Given the description of an element on the screen output the (x, y) to click on. 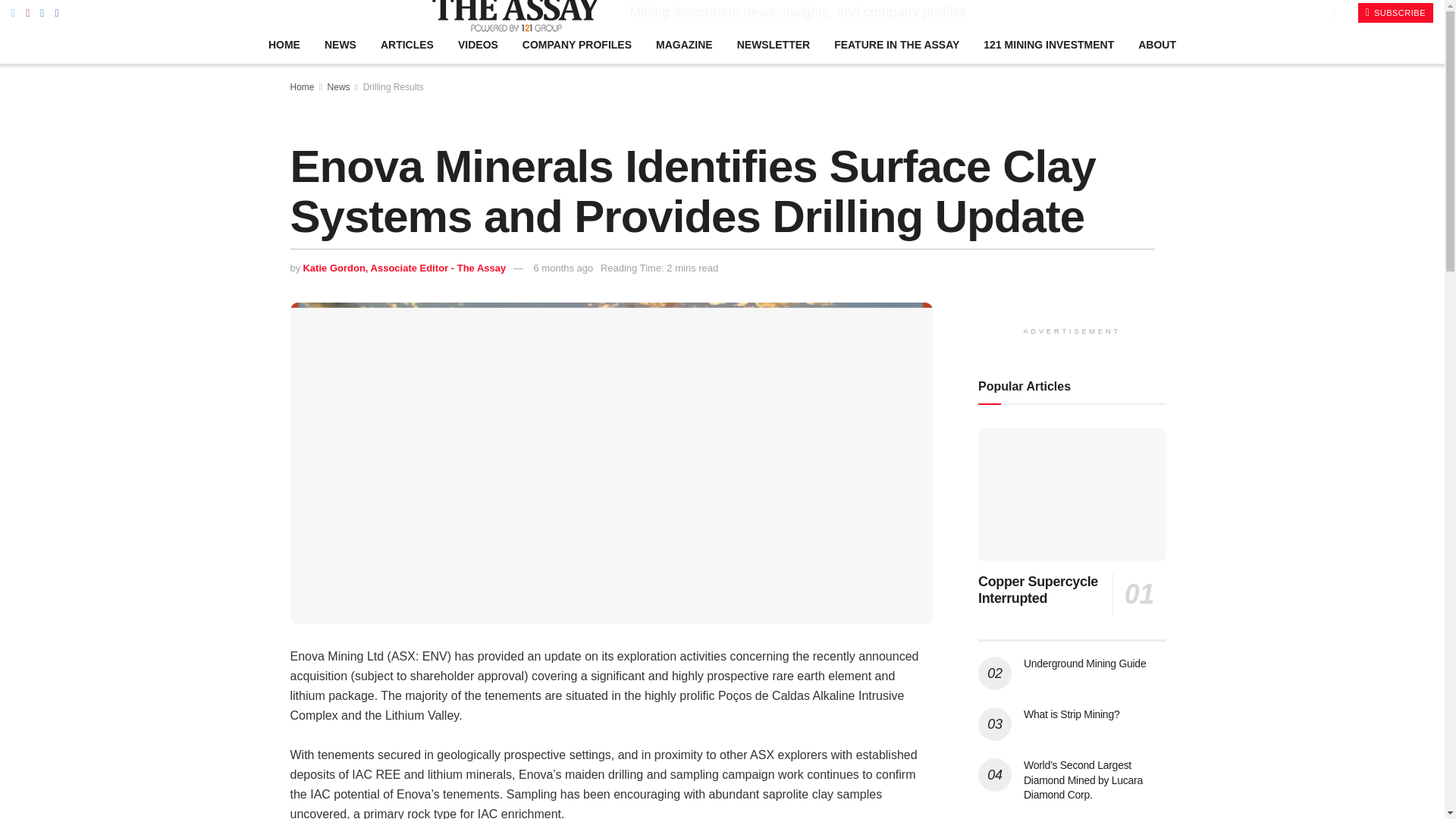
NEWSLETTER (773, 44)
MAGAZINE (684, 44)
HOME (284, 44)
121 MINING INVESTMENT (1048, 44)
NEWS (340, 44)
VIDEOS (478, 44)
COMPANY PROFILES (577, 44)
ARTICLES (406, 44)
SUBSCRIBE (1395, 12)
FEATURE IN THE ASSAY (896, 44)
